Given the description of an element on the screen output the (x, y) to click on. 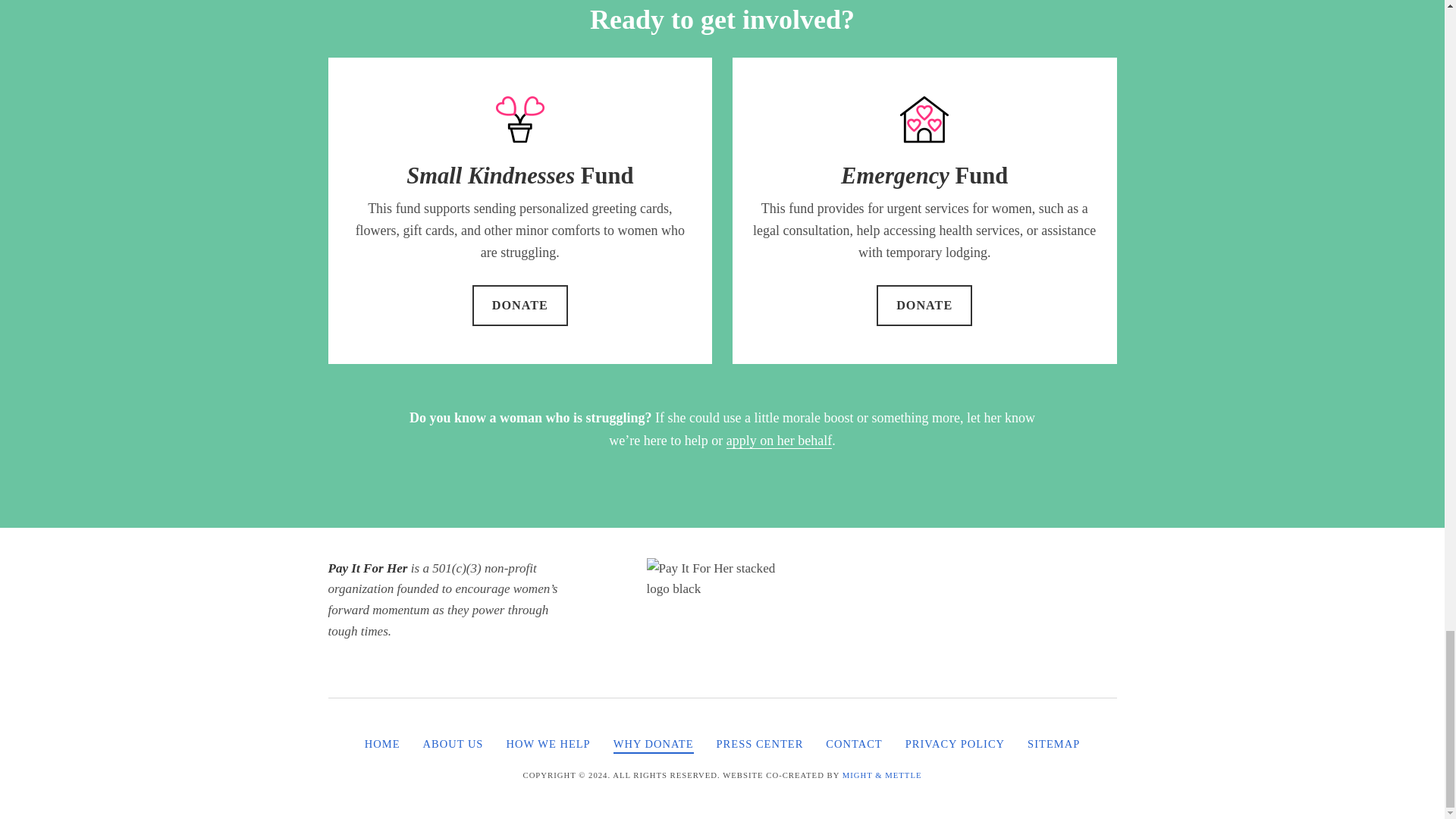
CONTACT (853, 745)
DONATE (924, 305)
SITEMAP (1053, 745)
HOW WE HELP (547, 745)
HOME (382, 745)
PRIVACY POLICY (954, 745)
ABOUT US (453, 745)
apply on her behalf (778, 440)
WHY DONATE (653, 745)
PRESS CENTER (759, 745)
